Given the description of an element on the screen output the (x, y) to click on. 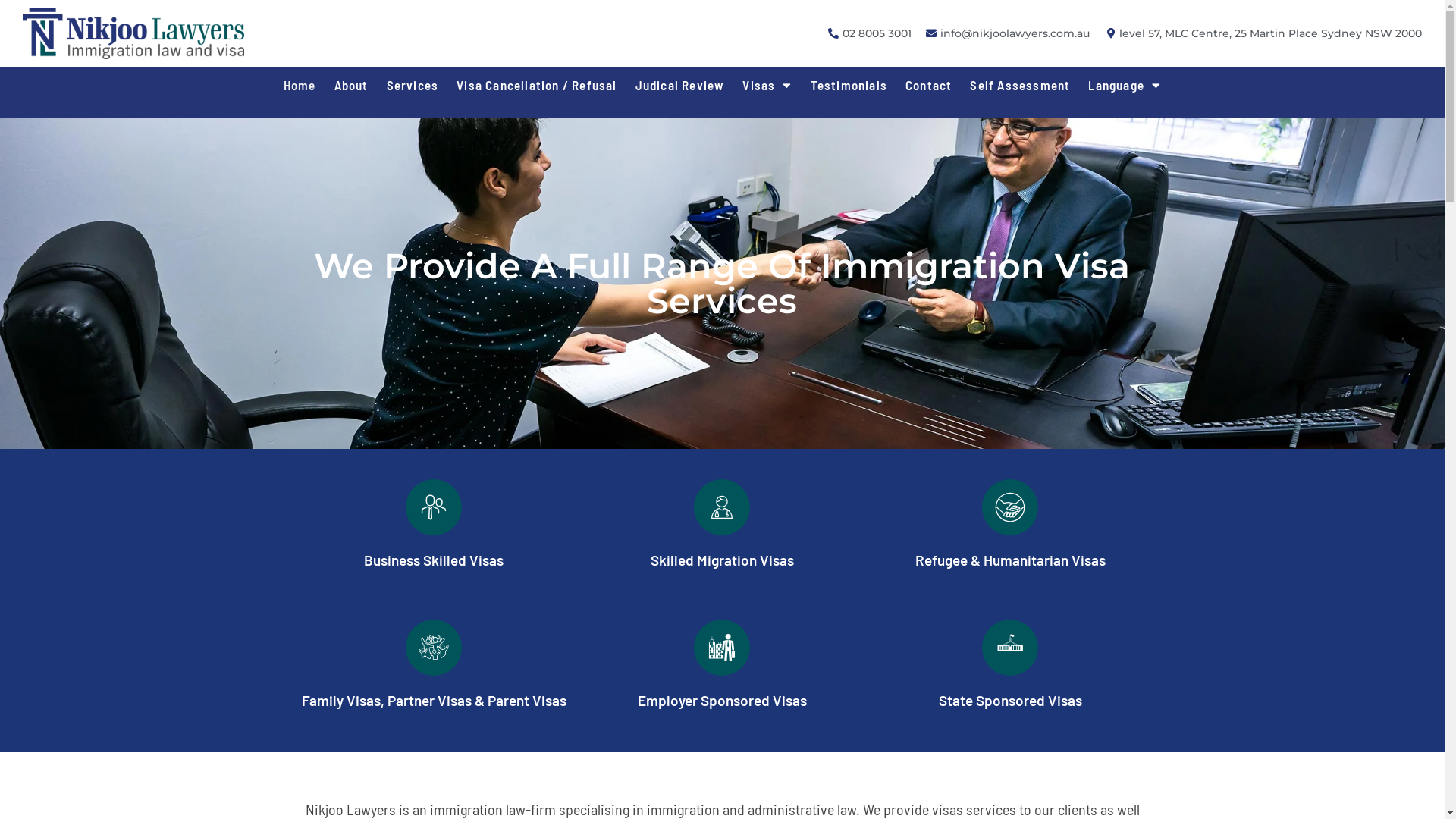
Family Visas, Partner Visas & Parent Visas Element type: text (433, 700)
Employer Sponsored Visas Element type: text (721, 700)
Home Element type: text (299, 84)
Skilled Migration Visas Element type: text (721, 559)
02 8005 3001 Element type: text (868, 33)
Services Element type: text (412, 84)
Business Skilled Visas Element type: text (433, 559)
About Element type: text (351, 84)
State Sponsored Visas Element type: text (1010, 700)
info@nikjoolawyers.com.au Element type: text (1006, 33)
Testimonials Element type: text (848, 84)
Contact Element type: text (928, 84)
Refugee & Humanitarian Visas Element type: text (1010, 559)
Language Element type: text (1124, 84)
Self Assessment Element type: text (1019, 84)
Visa Cancellation / Refusal Element type: text (536, 84)
Visas Element type: text (766, 84)
Judical Review Element type: text (680, 84)
